Given the description of an element on the screen output the (x, y) to click on. 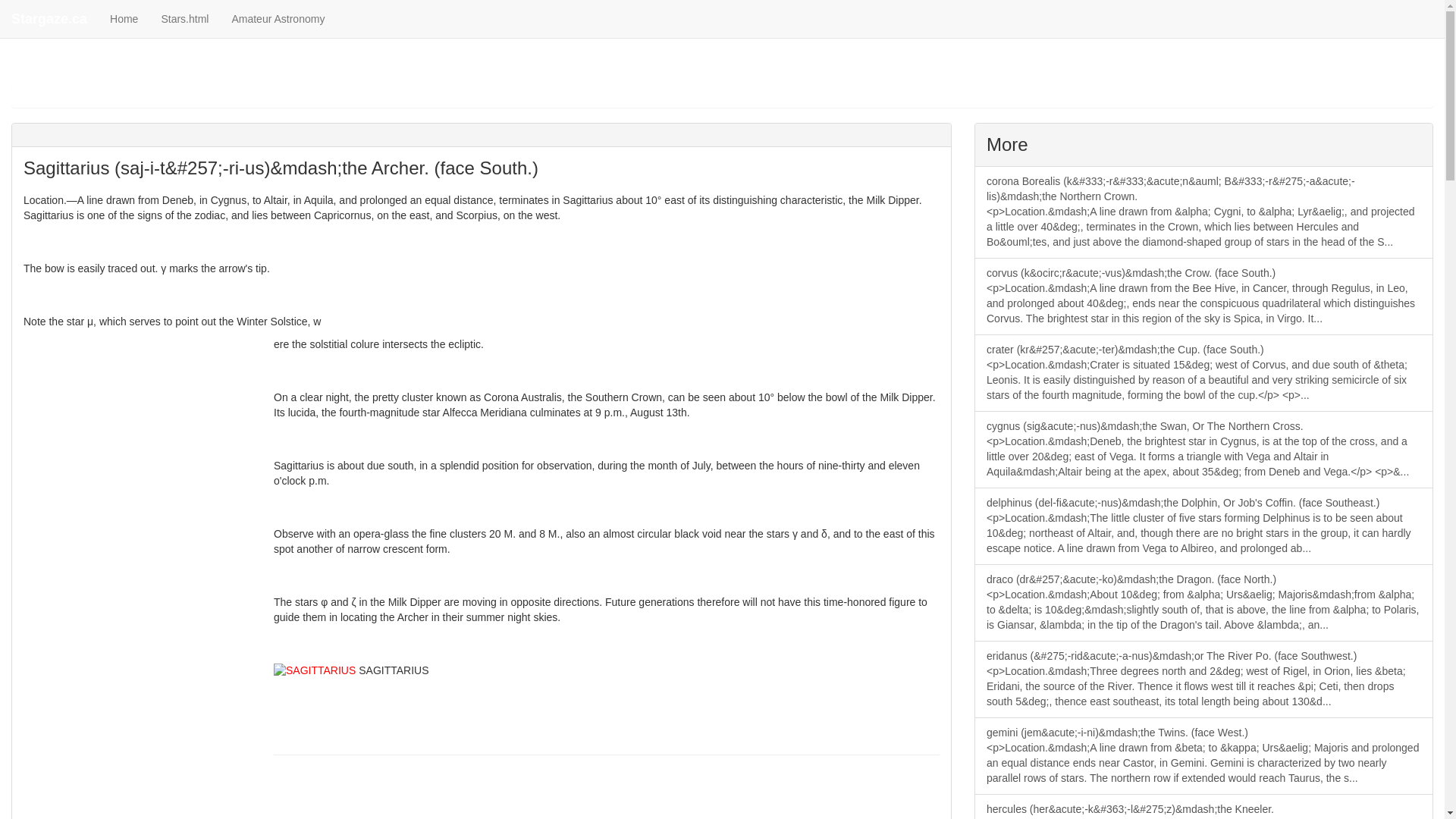
Amateur Astronomy (277, 18)
Stargaze.ca (49, 18)
SAGITTARIUS (314, 670)
Stars.html (184, 18)
Home (124, 18)
